Given the description of an element on the screen output the (x, y) to click on. 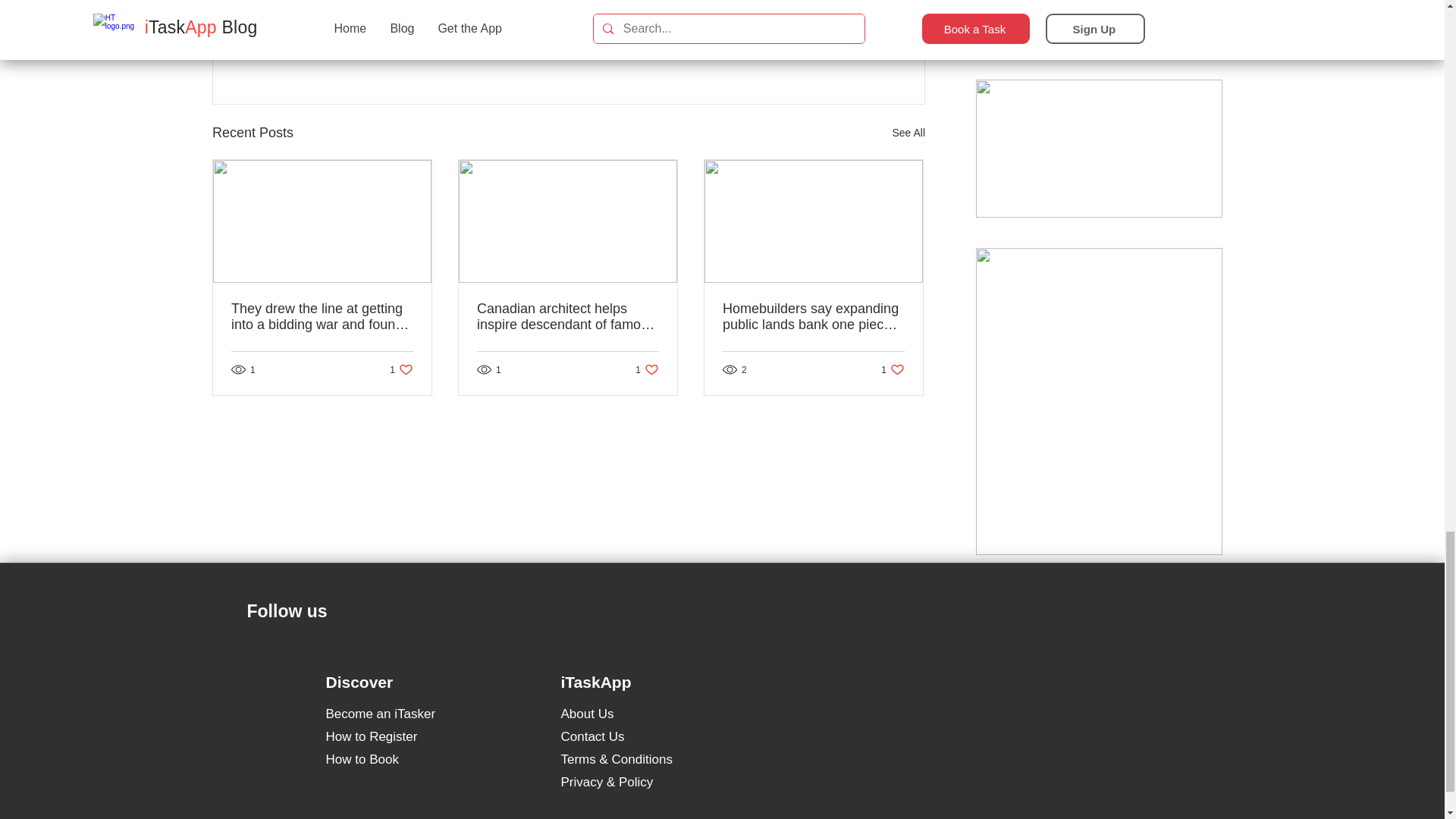
Post not marked as liked (841, 50)
See All (907, 133)
NEWS (646, 369)
